Given the description of an element on the screen output the (x, y) to click on. 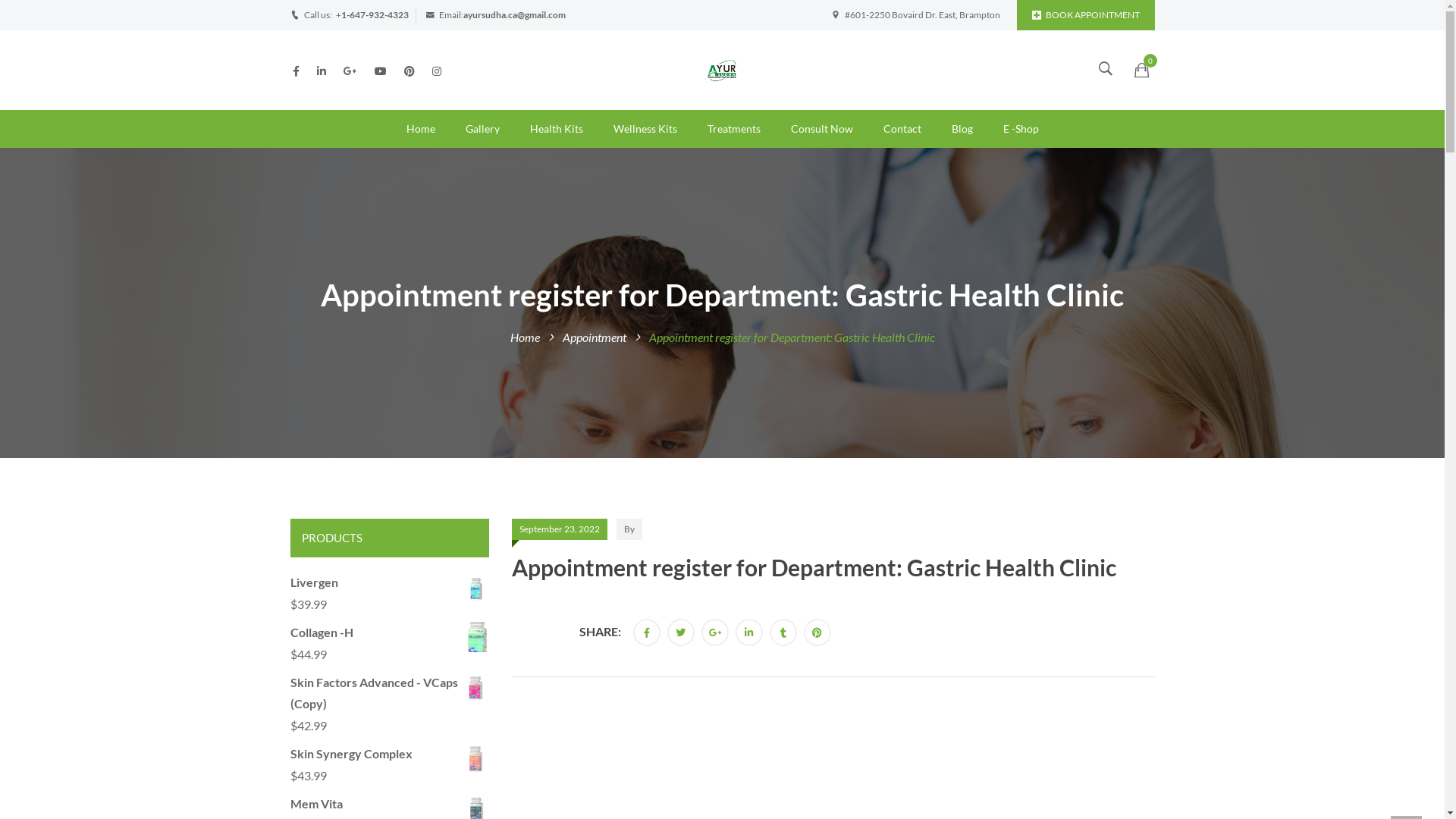
Home Element type: text (524, 336)
Blog Element type: text (961, 128)
Gallery Element type: text (482, 128)
Contact Element type: text (901, 128)
Treatments Element type: text (733, 128)
Consult Now Element type: text (821, 128)
Mem Vita Element type: text (389, 804)
Skin Factors Advanced - VCaps (Copy) Element type: text (389, 693)
Collagen -H Element type: text (389, 632)
Skin Synergy Complex Element type: text (389, 754)
Home Element type: text (420, 128)
Wellness Kits Element type: text (644, 128)
Livergen Element type: text (389, 582)
Health Kits Element type: text (555, 128)
Appointment Element type: text (594, 336)
BOOK APPOINTMENT Element type: text (1085, 15)
E -Shop Element type: text (1020, 128)
ayursudha.ca@gmail.com Element type: text (513, 14)
